Given the description of an element on the screen output the (x, y) to click on. 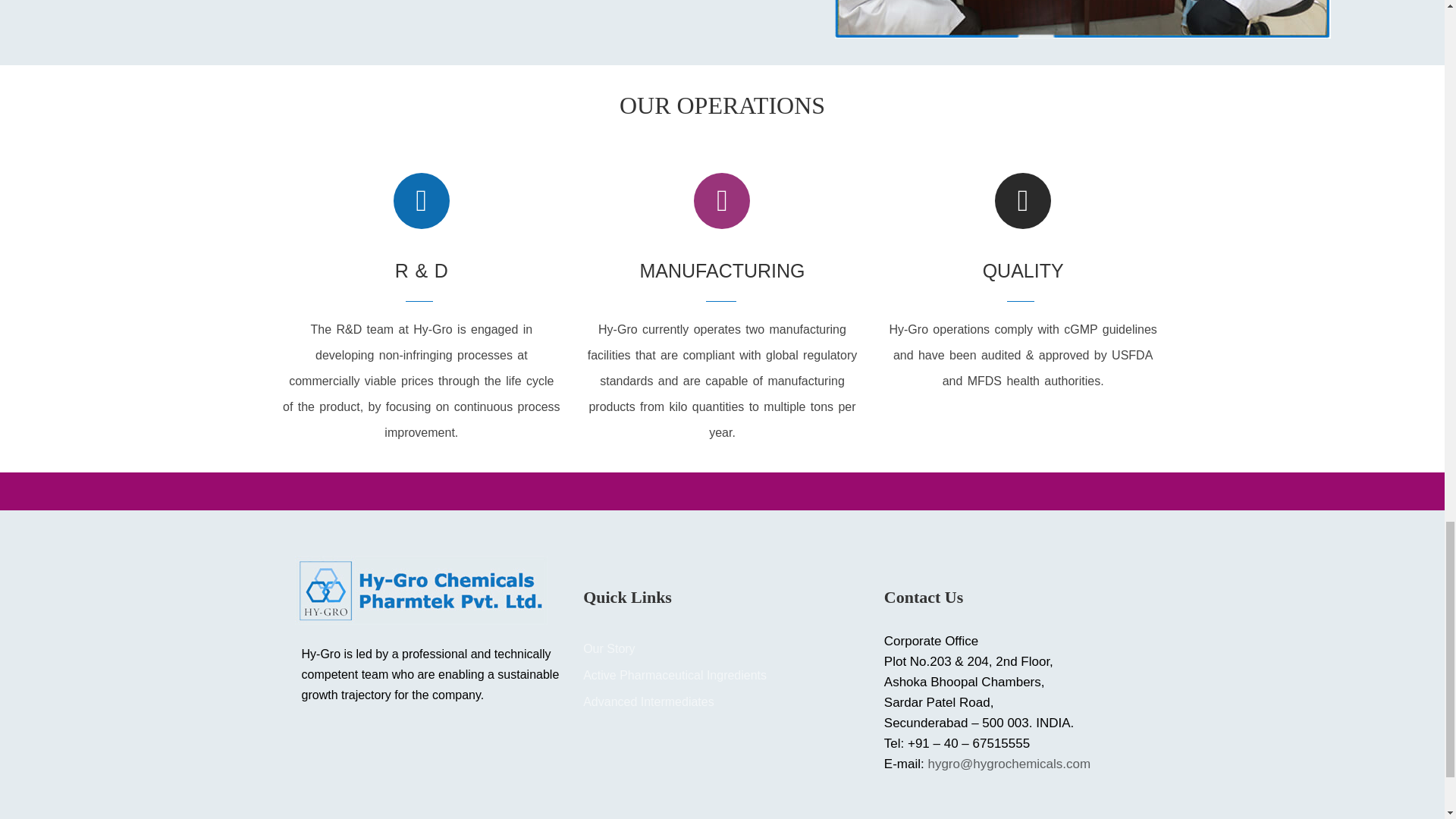
cd (1082, 19)
Active Pharmaceutical Ingredients (675, 675)
Our Story (608, 648)
Advanced Intermediates (648, 701)
